Given the description of an element on the screen output the (x, y) to click on. 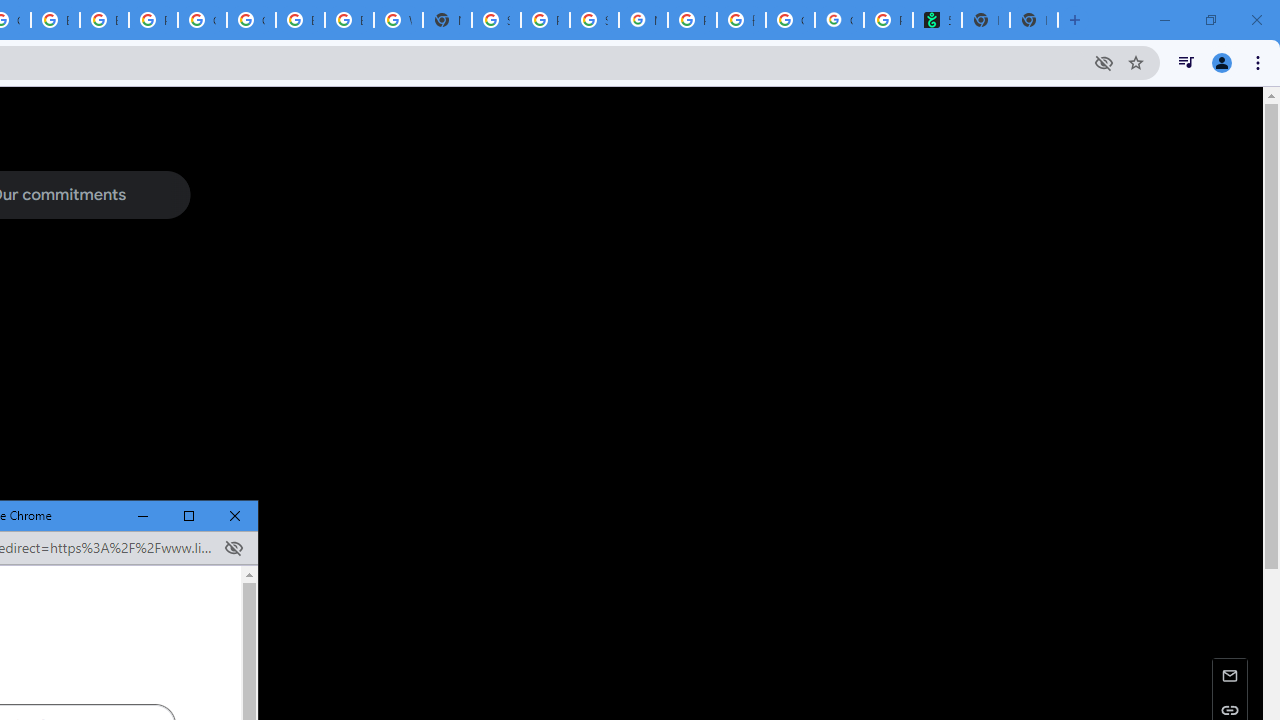
Minimize (143, 516)
Close (235, 516)
Maximize (189, 516)
Third-party cookies blocked (233, 547)
